Given the description of an element on the screen output the (x, y) to click on. 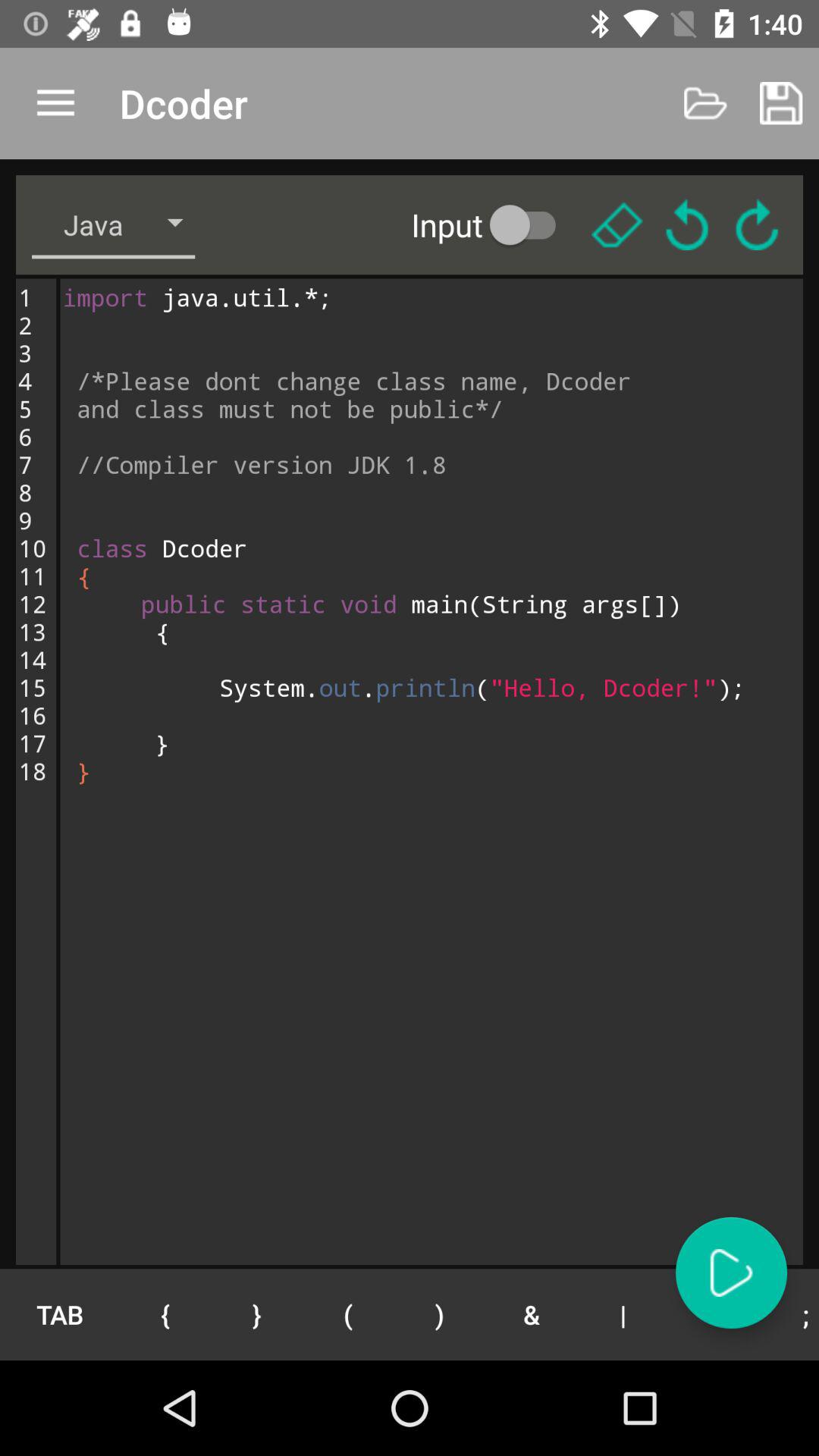
tap button above the tab button (431, 771)
